Given the description of an element on the screen output the (x, y) to click on. 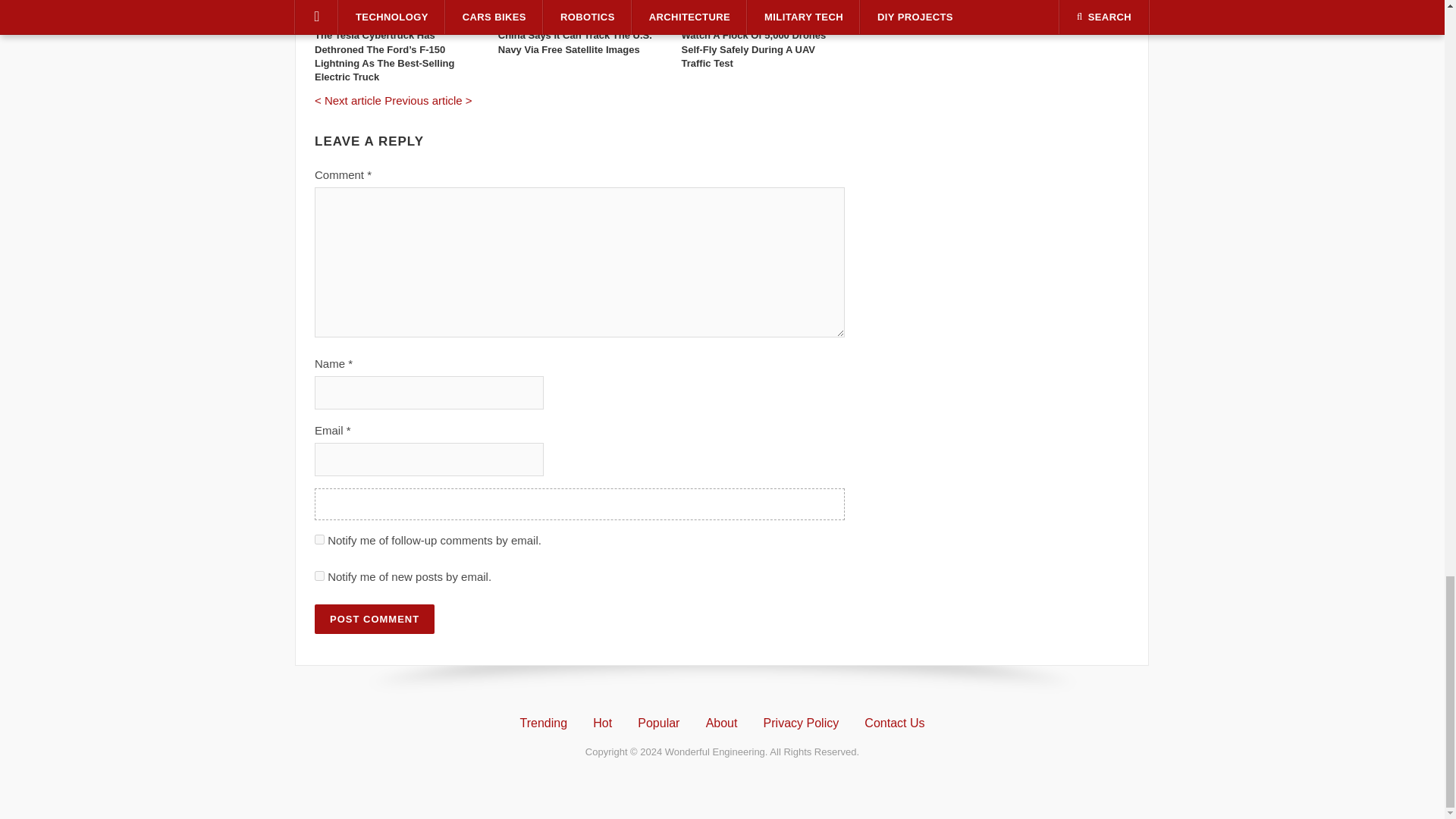
subscribe (319, 539)
subscribe (319, 575)
Post Comment (373, 618)
